Given the description of an element on the screen output the (x, y) to click on. 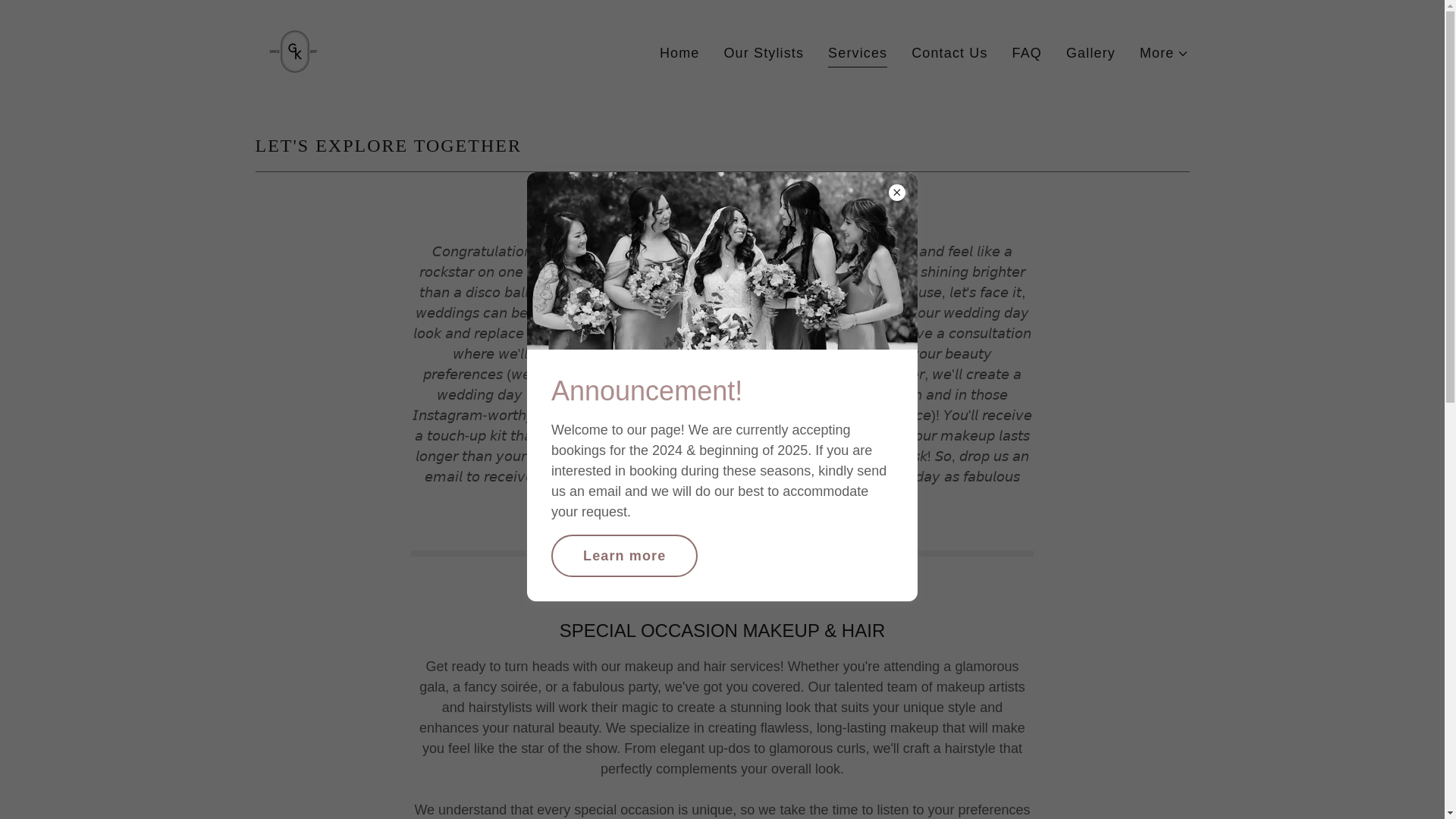
Contact Us (949, 52)
Our Stylists (763, 52)
Learn more (624, 555)
More (1164, 53)
Gallery (1090, 52)
FAQ (1026, 52)
Home (679, 52)
Services (857, 55)
